Given the description of an element on the screen output the (x, y) to click on. 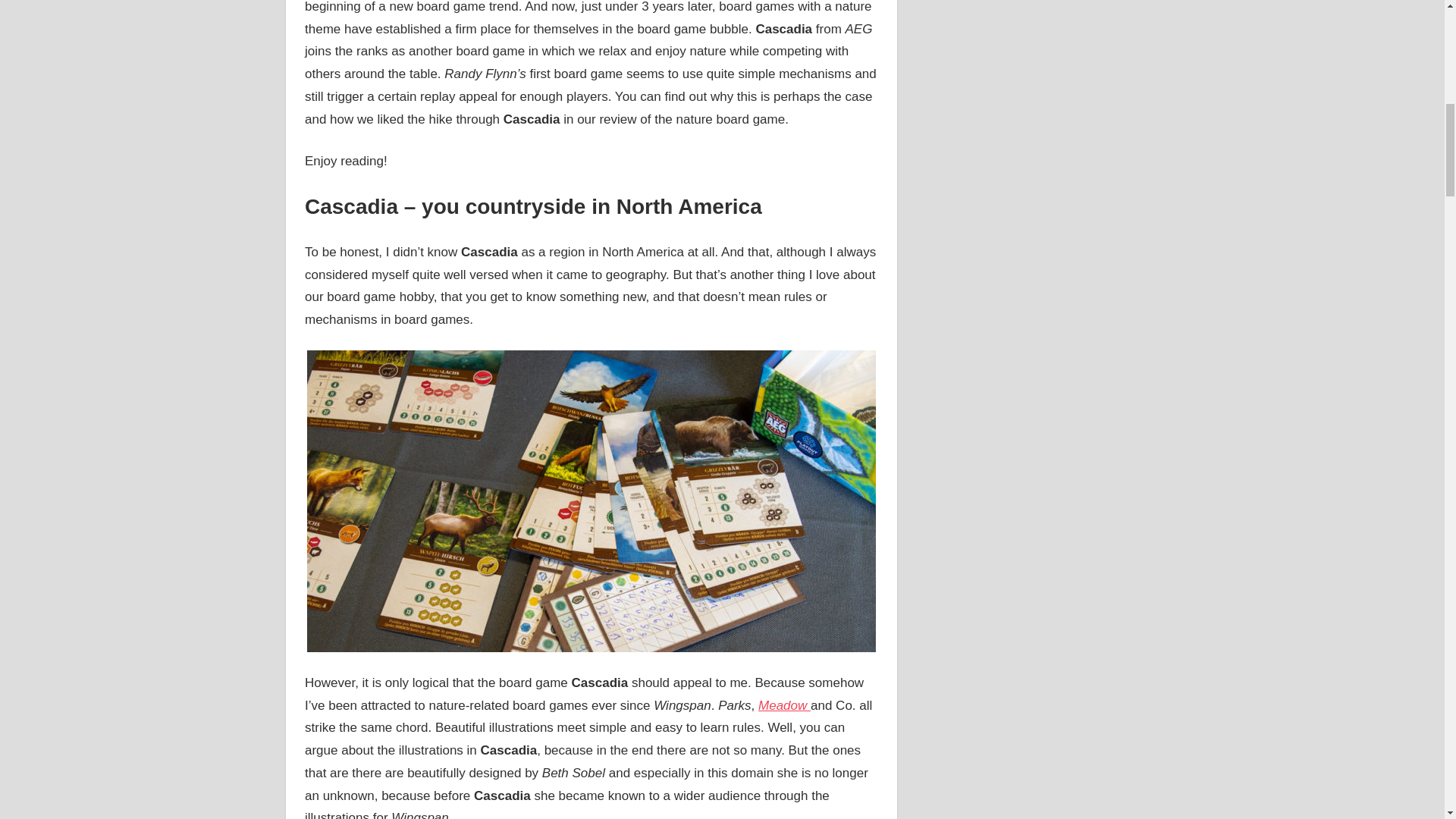
Meadow (784, 705)
